Given the description of an element on the screen output the (x, y) to click on. 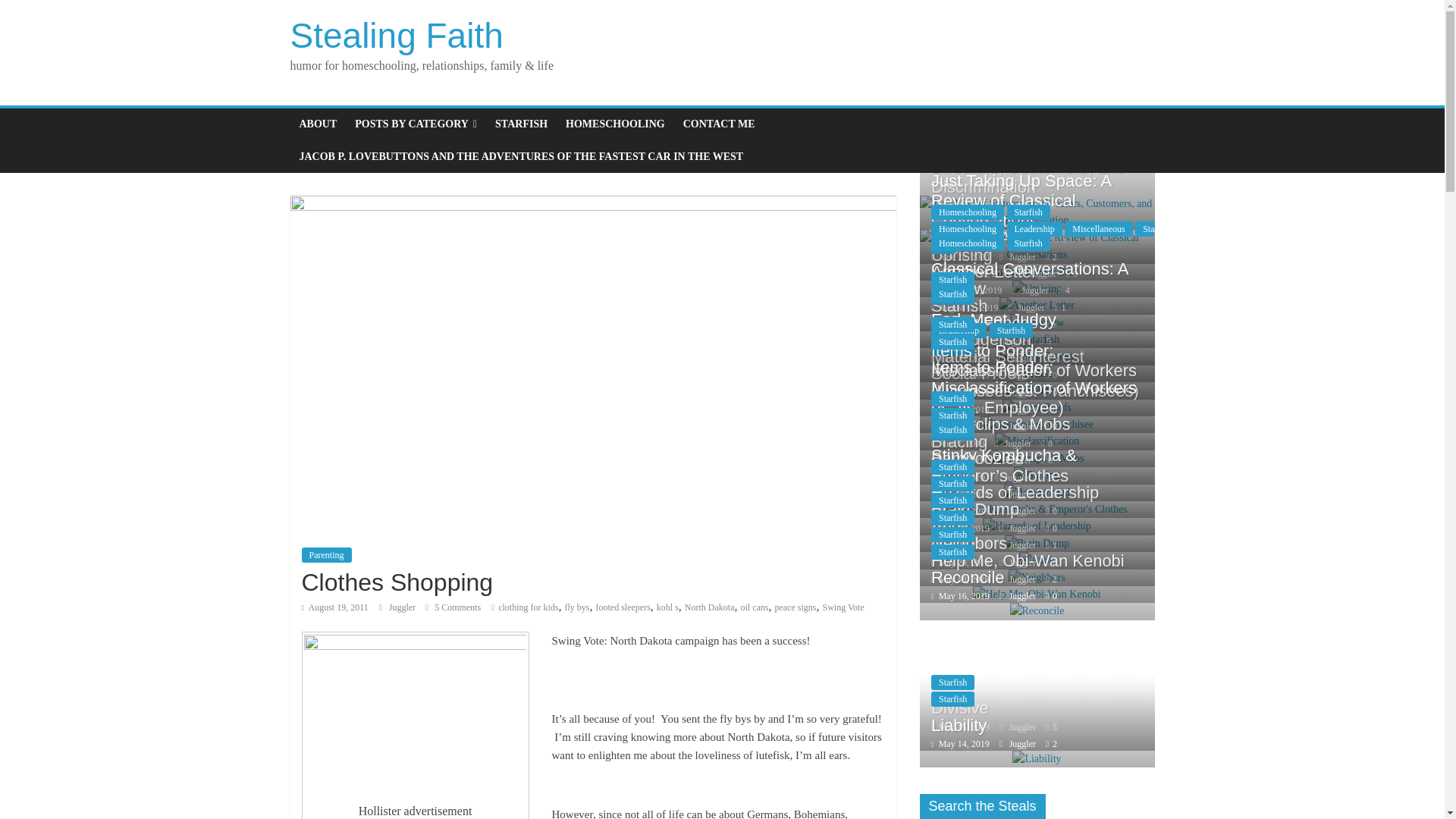
Swing Vote (842, 606)
Parenting (326, 554)
hollister-2 (414, 712)
CONTACT ME (719, 124)
kohl s (667, 606)
clothing for kids (527, 606)
Juggler (402, 606)
ABOUT (317, 124)
footed sleepers (622, 606)
HOMESCHOOLING (615, 124)
STARFISH (521, 124)
fly bys (576, 606)
oil cans (753, 606)
5 Comments (452, 606)
